Given the description of an element on the screen output the (x, y) to click on. 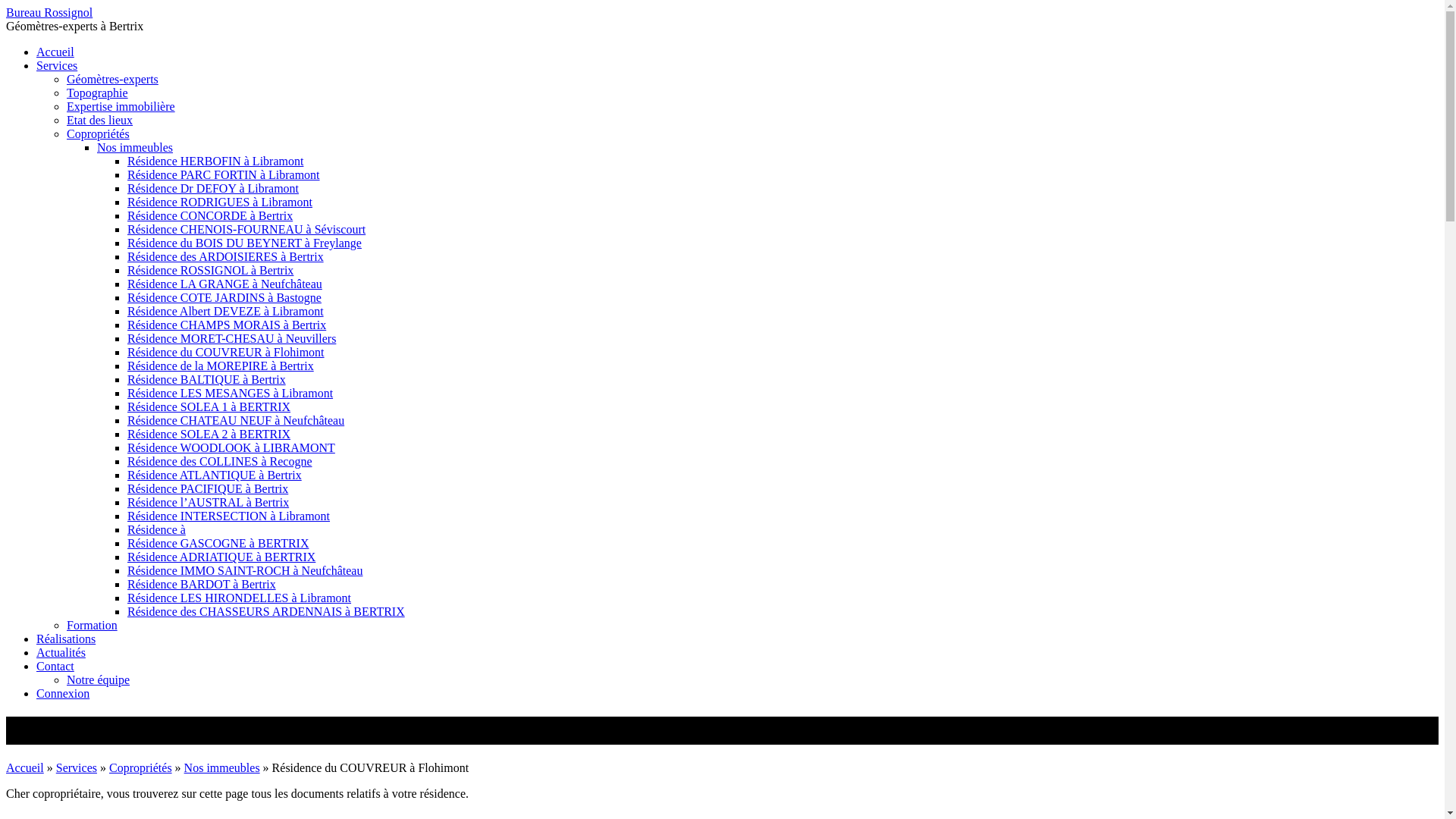
Topographie Element type: text (97, 92)
Nos immeubles Element type: text (134, 147)
Accueil Element type: text (55, 51)
Connexion Element type: text (62, 693)
Services Element type: text (76, 767)
Bureau Rossignol Element type: text (49, 12)
Services Element type: text (56, 65)
Etat des lieux Element type: text (99, 119)
Contact Element type: text (55, 665)
Formation Element type: text (91, 624)
Accueil Element type: text (24, 767)
Nos immeubles Element type: text (222, 767)
